Given the description of an element on the screen output the (x, y) to click on. 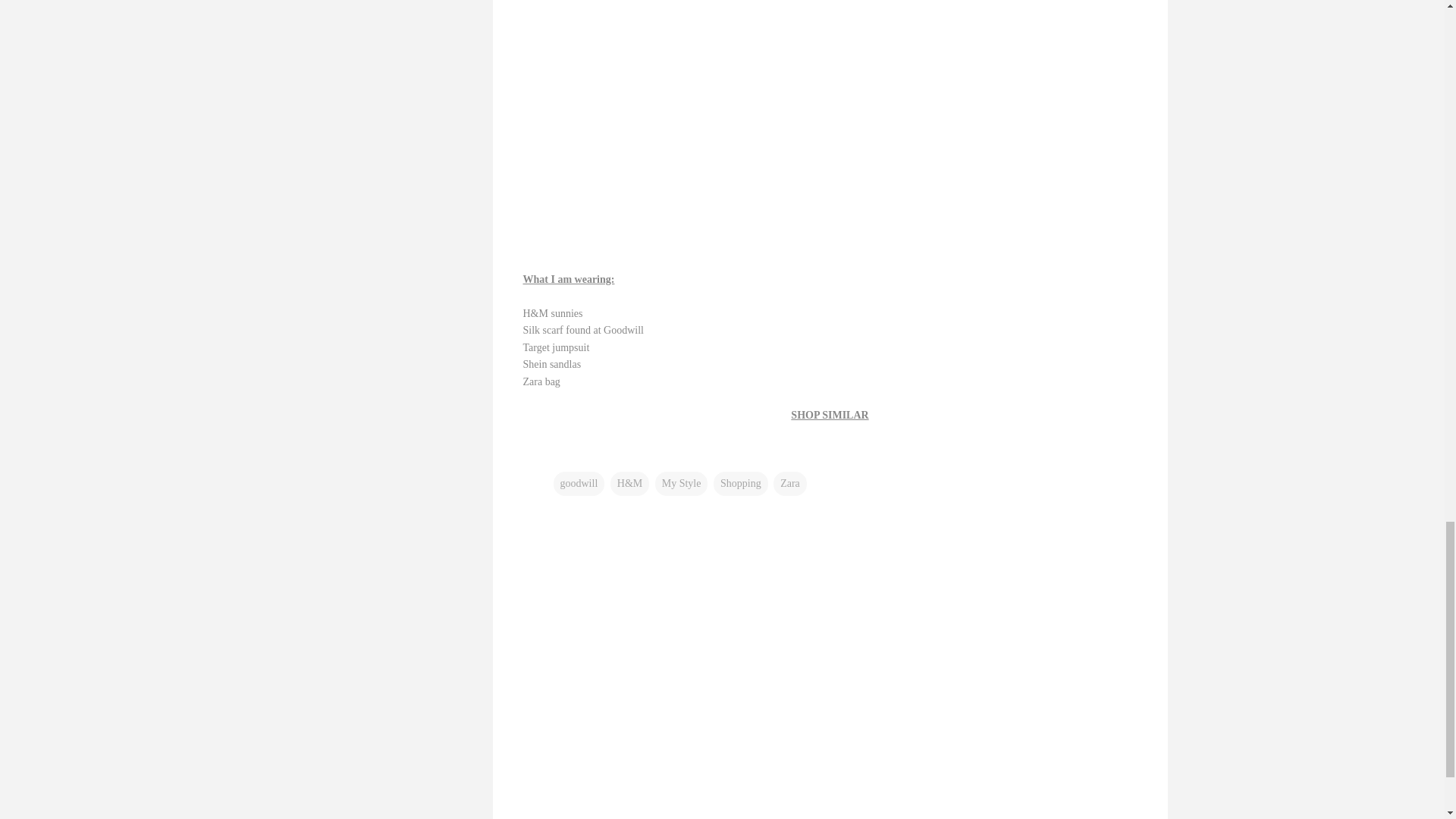
Zara (789, 483)
Shopping (740, 483)
My Style (681, 483)
goodwill (579, 483)
